Given the description of an element on the screen output the (x, y) to click on. 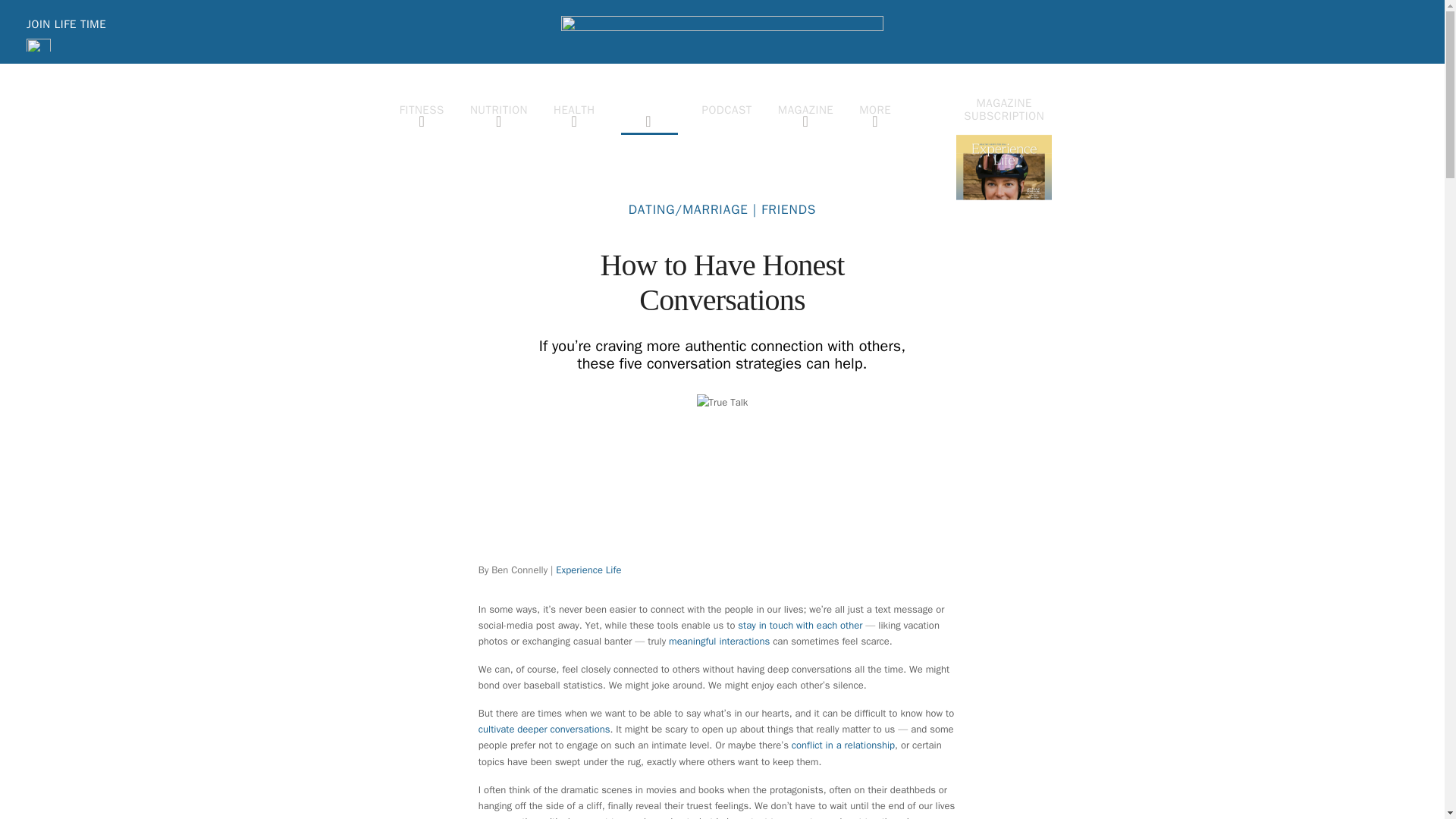
JOIN LIFE TIME (66, 24)
FITNESS (422, 109)
